Given the description of an element on the screen output the (x, y) to click on. 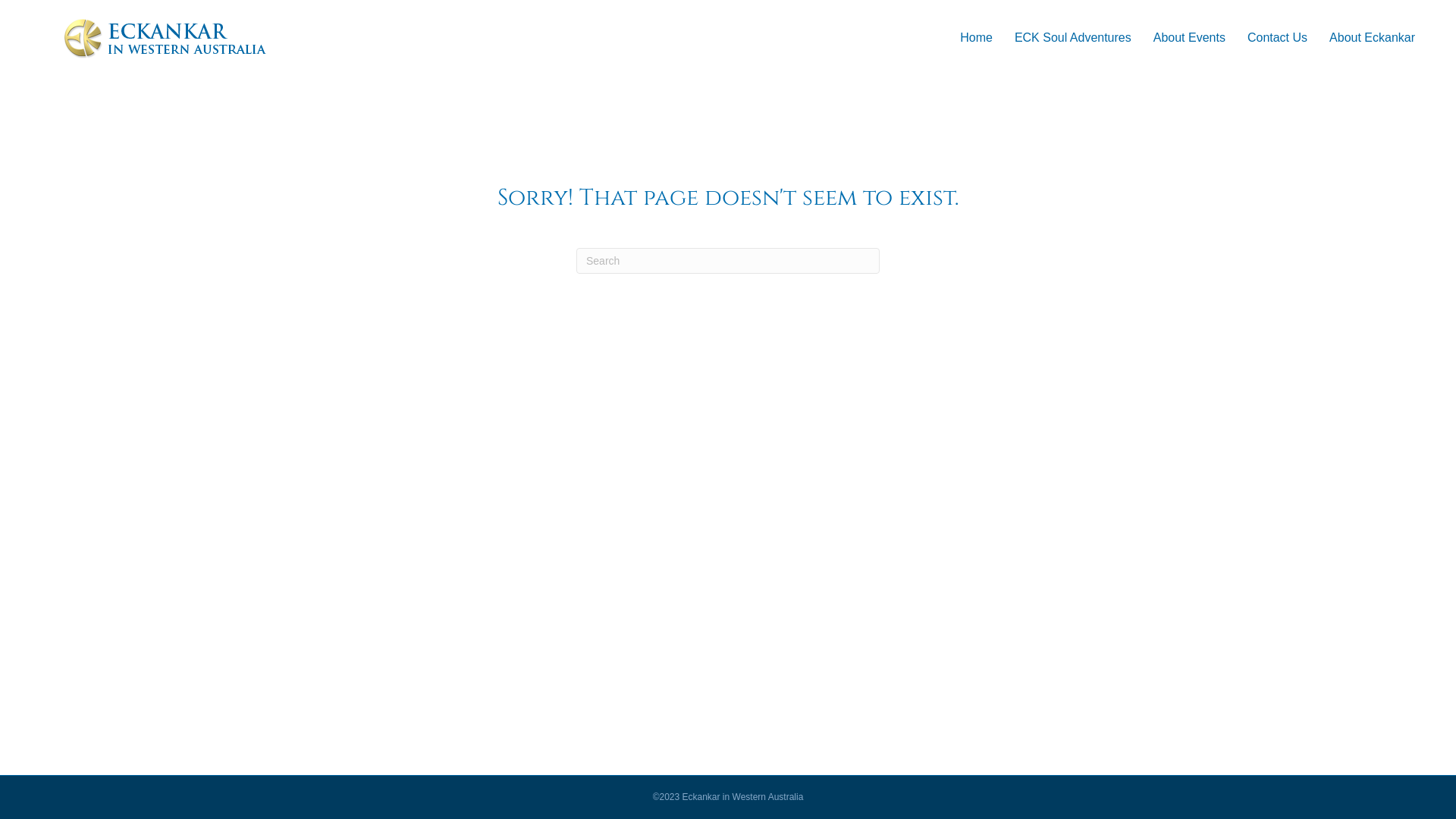
ECK Soul Adventures Element type: text (1073, 37)
Home Element type: text (976, 37)
Contact Us Element type: text (1276, 37)
logo Element type: hover (164, 37)
About Eckankar Element type: text (1371, 37)
Type and press Enter to search. Element type: hover (727, 260)
About Events Element type: text (1189, 37)
